Given the description of an element on the screen output the (x, y) to click on. 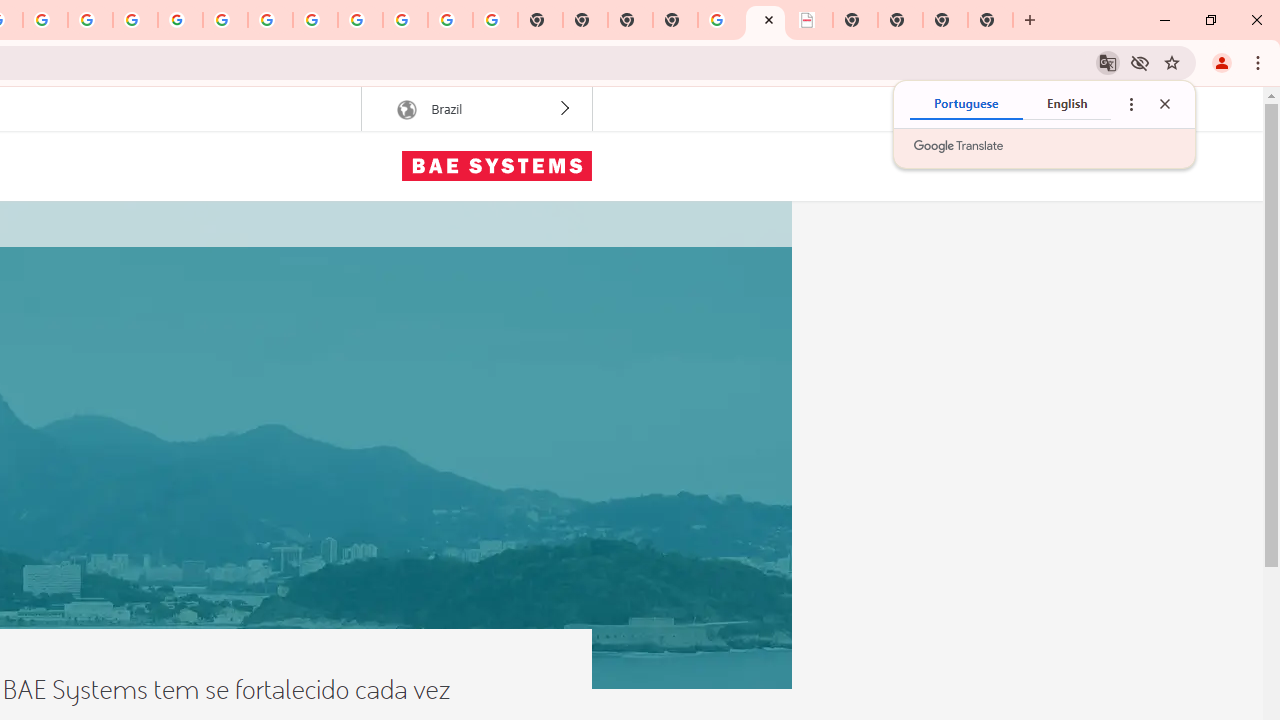
Translate options (1130, 103)
New Tab (989, 20)
 International Region Icon (406, 110)
YouTube (225, 20)
Portuguese (966, 103)
AutomationID: region-selector-top (475, 109)
Privacy Help Center - Policies Help (89, 20)
